Given the description of an element on the screen output the (x, y) to click on. 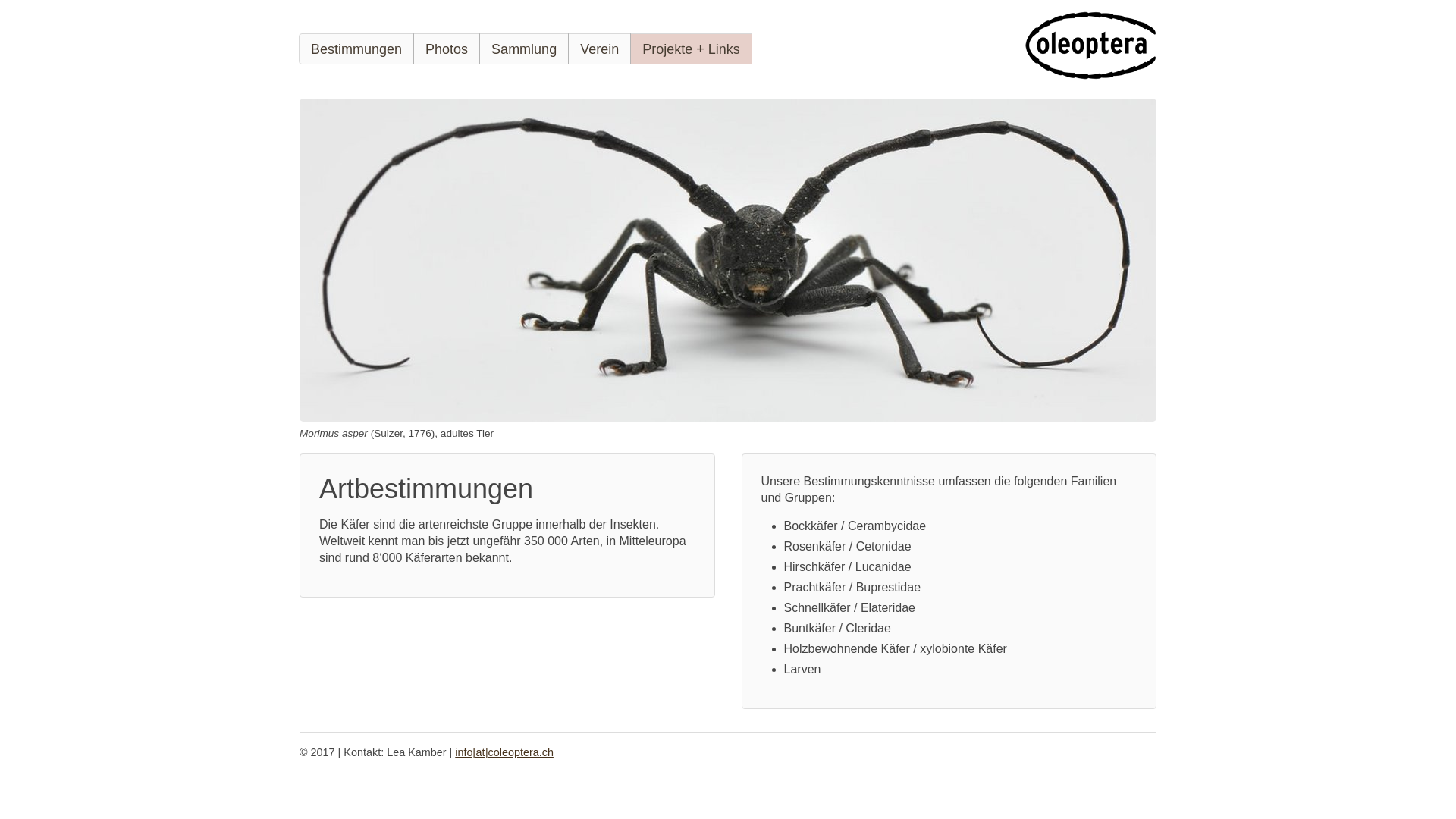
Photos Element type: text (446, 48)
info[at]coleoptera.ch Element type: text (504, 752)
Sammlung Element type: text (523, 48)
Verein Element type: text (598, 48)
Projekte + Links Element type: text (691, 48)
Morimus asper (Sulzer, 1776), adultes Tier Element type: hover (727, 259)
Bestimmungen Element type: text (356, 48)
